Given the description of an element on the screen output the (x, y) to click on. 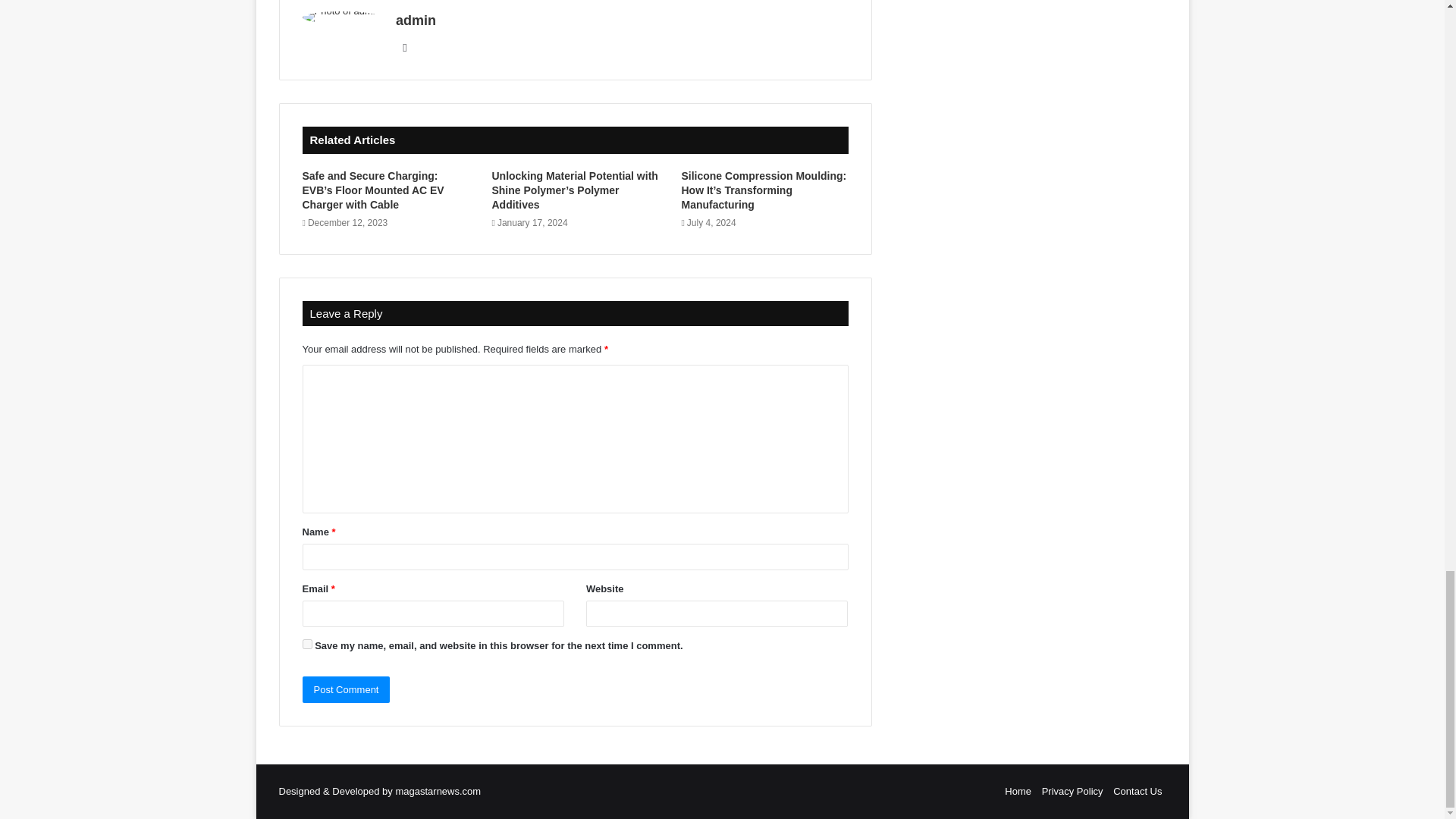
Website (404, 47)
yes (306, 644)
Post Comment (345, 689)
admin (415, 20)
